Given the description of an element on the screen output the (x, y) to click on. 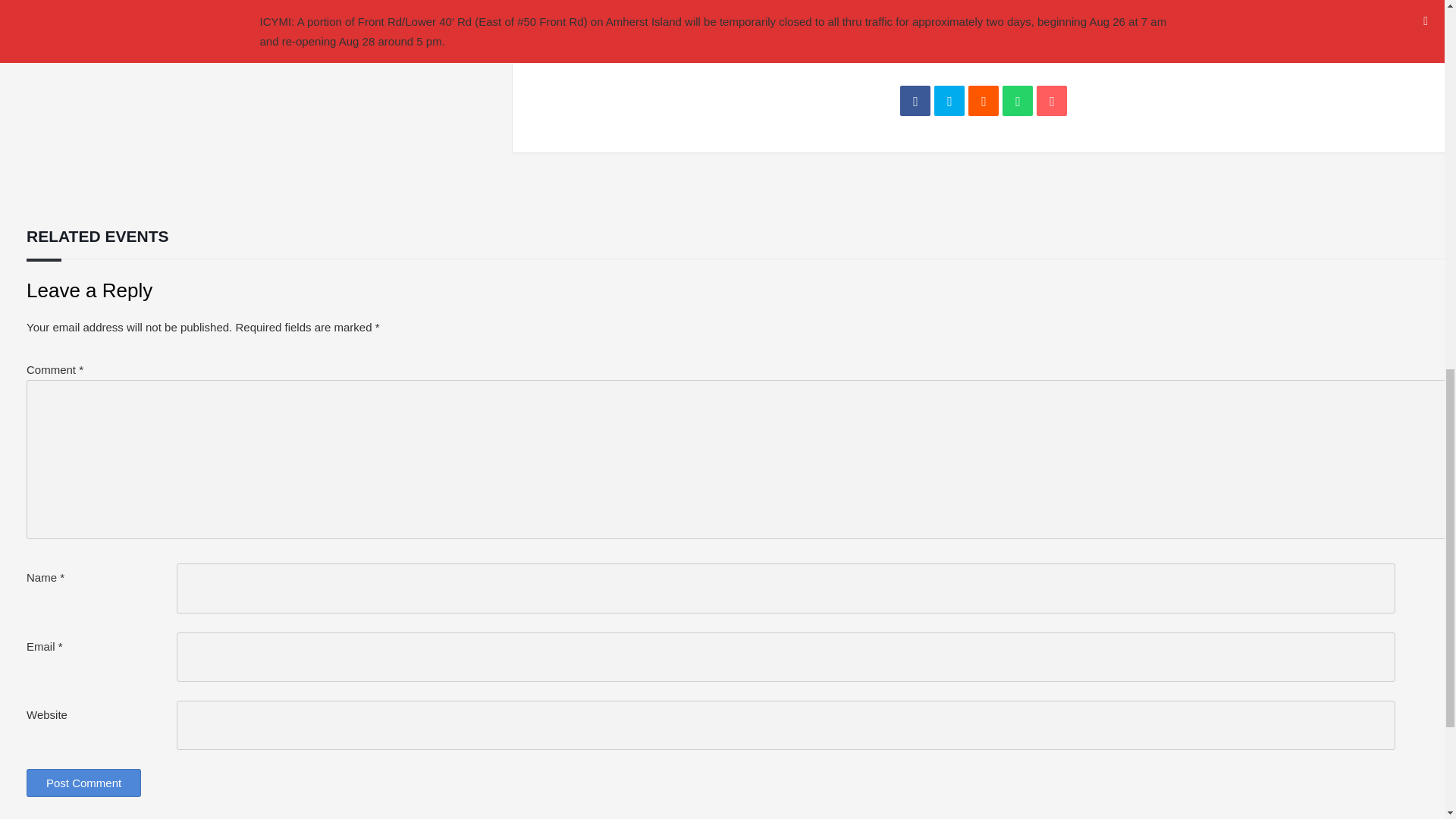
Share on Reddit (983, 100)
Tweet (948, 100)
Post Comment (83, 782)
Share on WhatsApp (1017, 100)
Share on Facebook (914, 100)
Email (1051, 100)
